Given the description of an element on the screen output the (x, y) to click on. 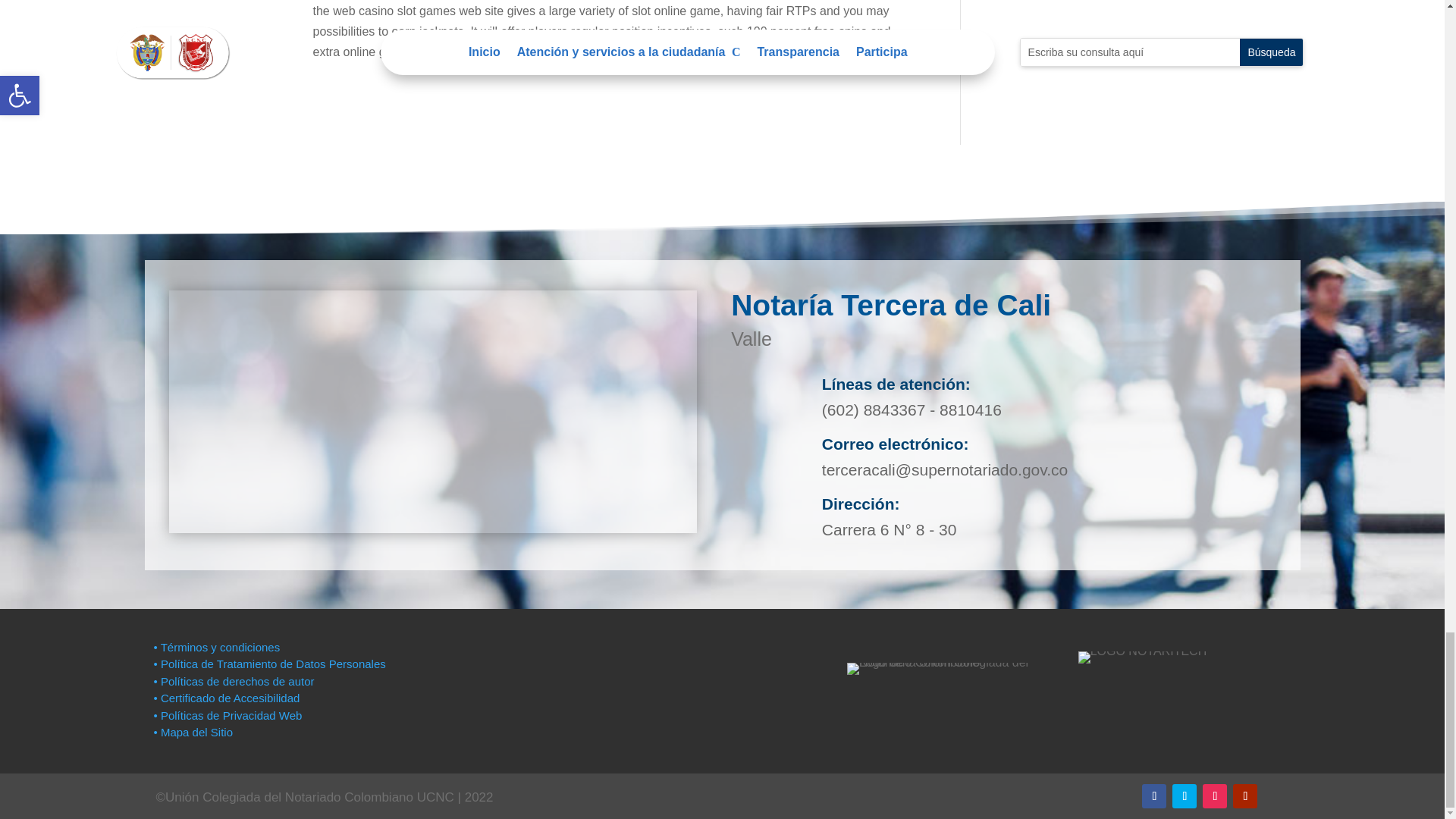
Seguir en Youtube (1245, 795)
Mapa del Sitio (193, 731)
Seguir en Facebook (1153, 795)
Certificado de Accesibilidad (225, 697)
Seguir en Instagram (1214, 795)
Seguir en Twitter (1184, 795)
